Given the description of an element on the screen output the (x, y) to click on. 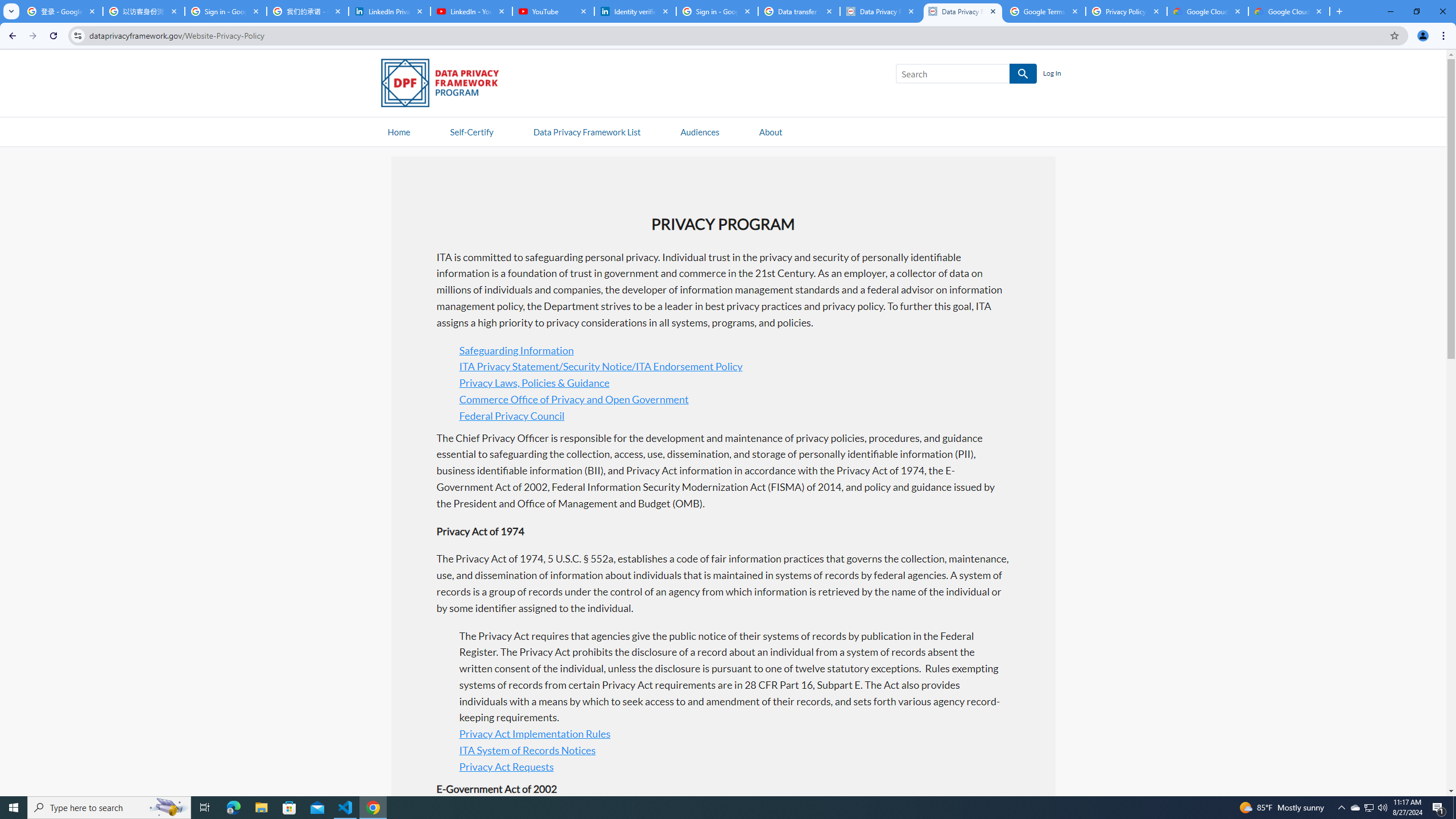
Privacy Laws, Policies & Guidance (534, 382)
ITA Privacy Statement/Security Notice/ITA Endorsement Policy (600, 366)
YouTube (552, 11)
Safeguarding Information (515, 349)
Privacy Act Requests (505, 766)
Google Cloud Privacy Notice (1289, 11)
Data Privacy Framework (963, 11)
Self-Certify (471, 131)
AutomationID: navitem (699, 131)
